Given the description of an element on the screen output the (x, y) to click on. 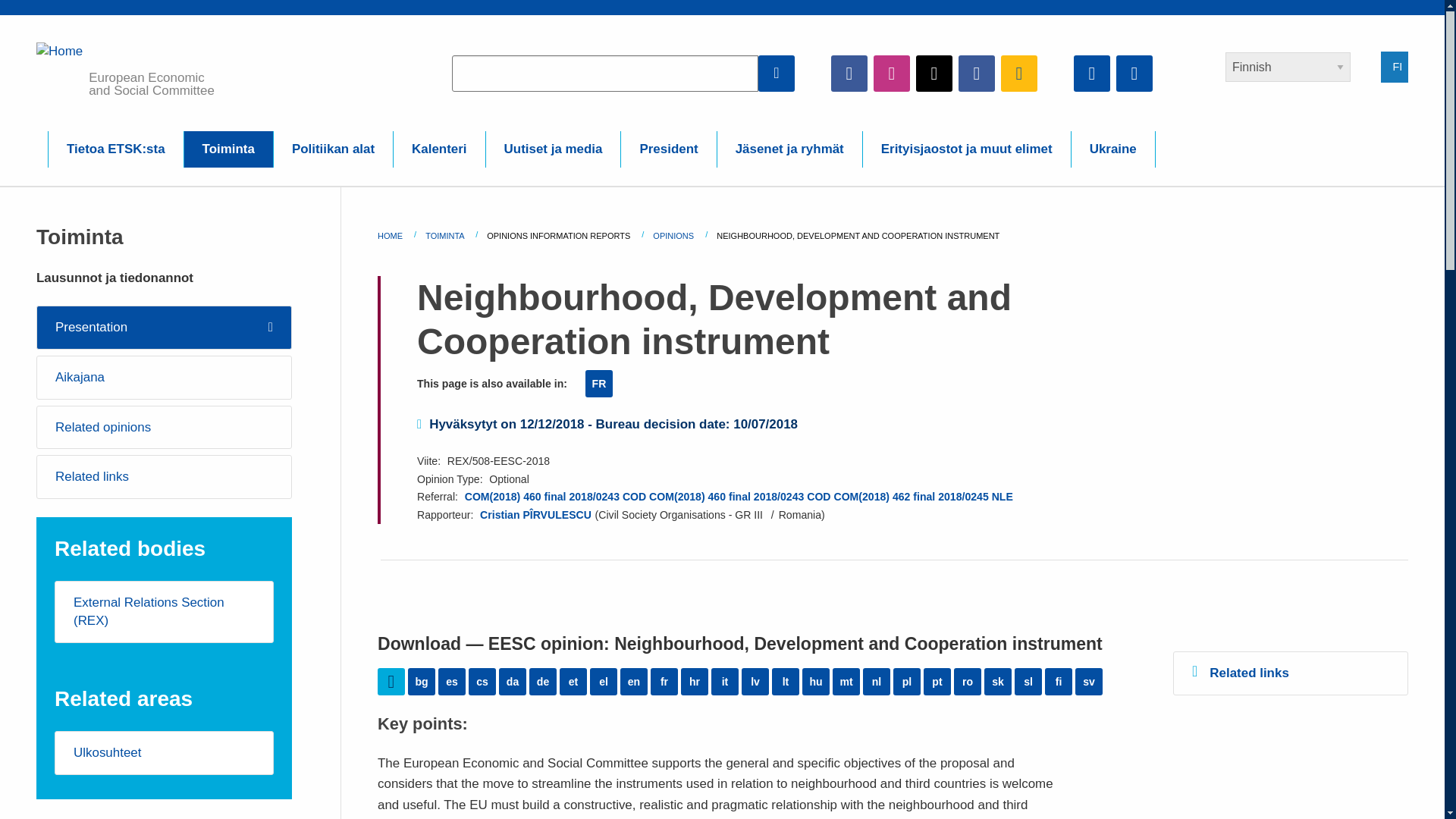
Apply (776, 72)
